Given the description of an element on the screen output the (x, y) to click on. 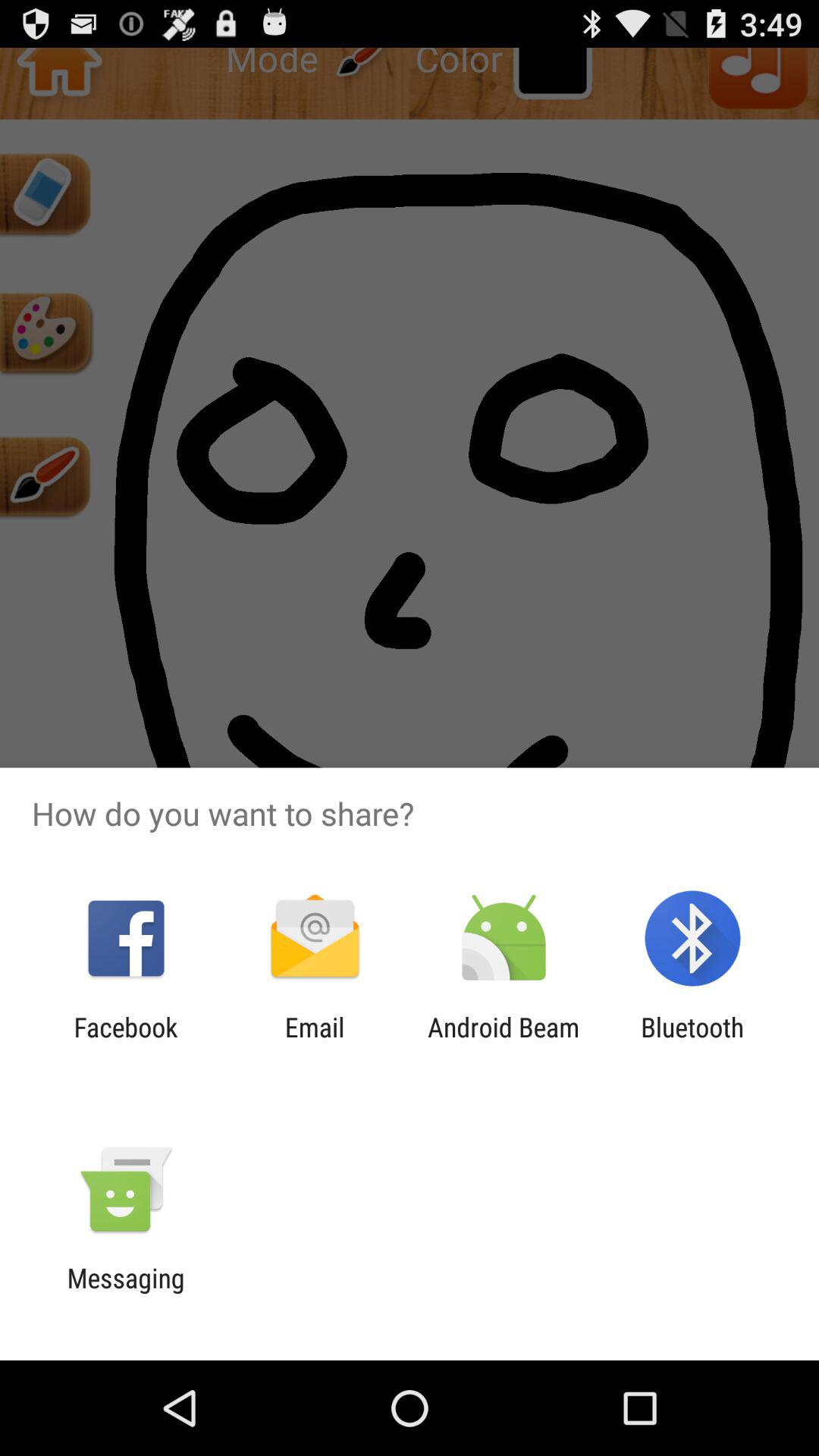
open icon next to the email (125, 1042)
